Given the description of an element on the screen output the (x, y) to click on. 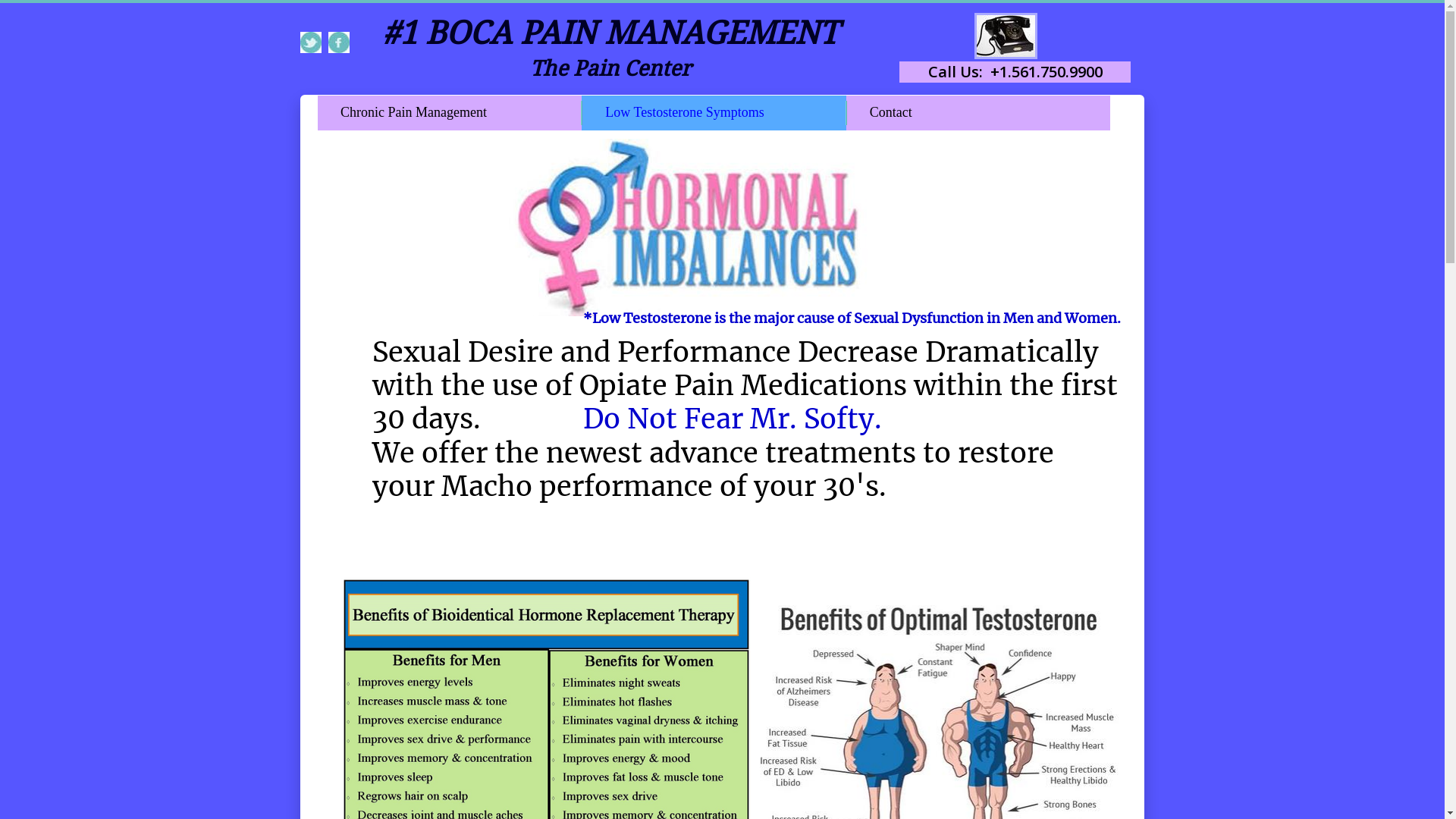
Low Testosterone Symptoms Element type: text (713, 112)
Chronic Pain Management Element type: text (449, 112)
Contact Element type: text (978, 112)
